Given the description of an element on the screen output the (x, y) to click on. 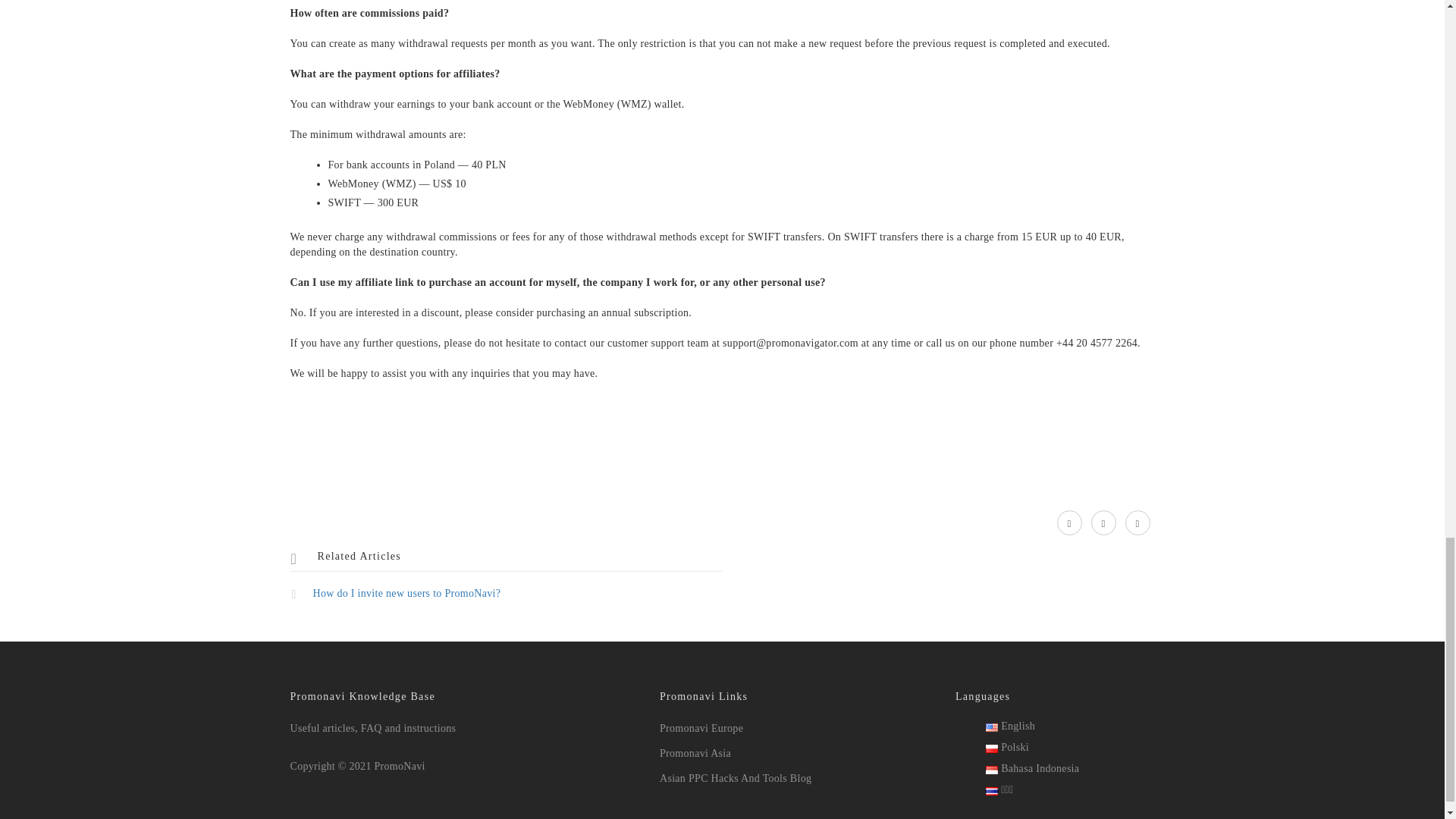
English (1010, 726)
Promonavi Europe (700, 727)
Bahasa Indonesia (1031, 767)
facebook (1137, 523)
Polski (991, 748)
Promonavi Asia (694, 753)
Asian PPC Hacks And Tools Blog (734, 778)
How do I invite new users to PromoNavi? (721, 592)
Bahasa Indonesia (991, 769)
Polski (1007, 747)
